Given the description of an element on the screen output the (x, y) to click on. 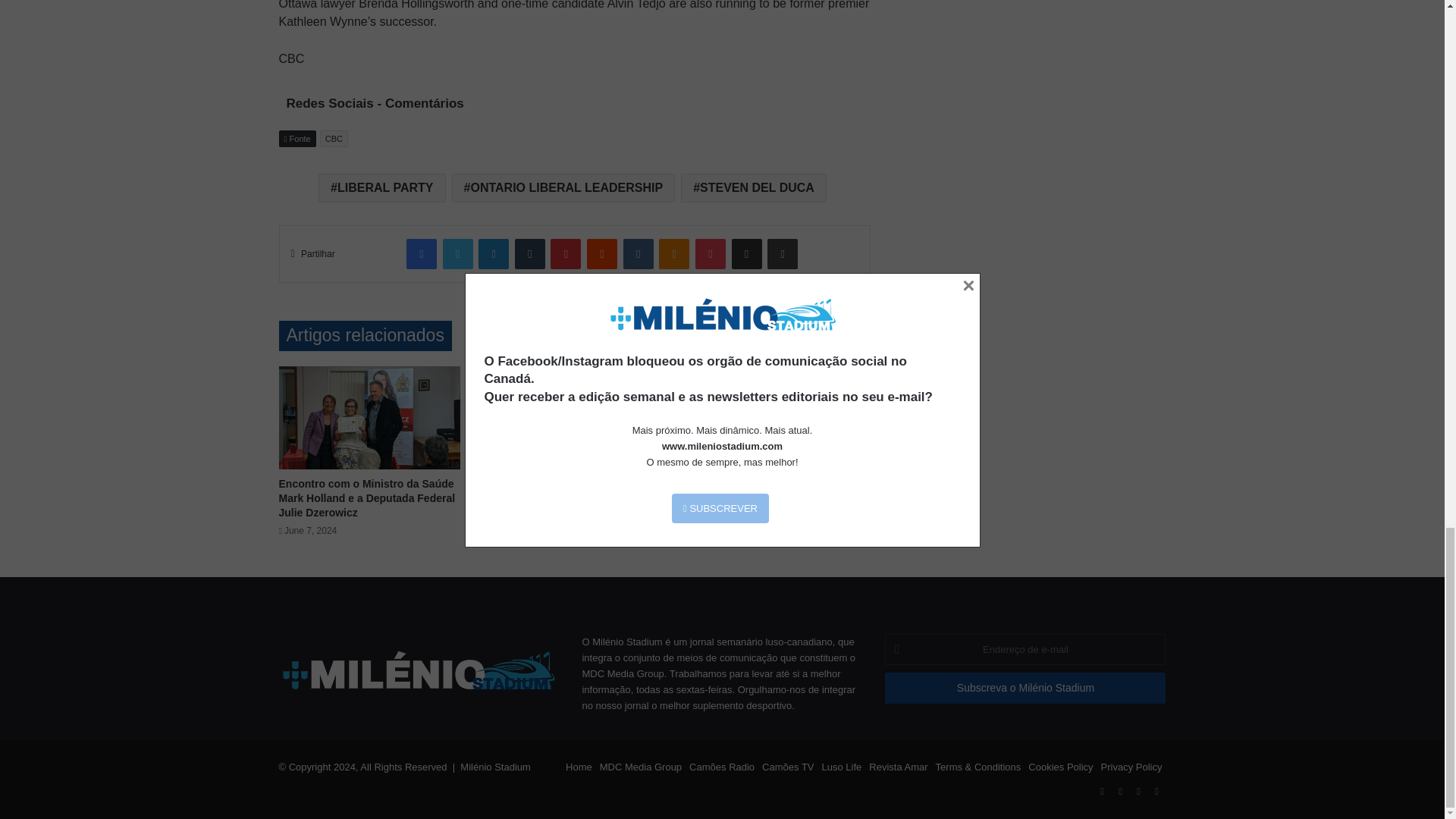
Reddit (601, 254)
LinkedIn (493, 254)
Tumblr (529, 254)
Twitter (457, 254)
Odnoklassniki (673, 254)
VKontakte (638, 254)
Partilha via e-mail (746, 254)
Imprimir (782, 254)
Facebook (421, 254)
Pinterest (565, 254)
Pocket (710, 254)
